Given the description of an element on the screen output the (x, y) to click on. 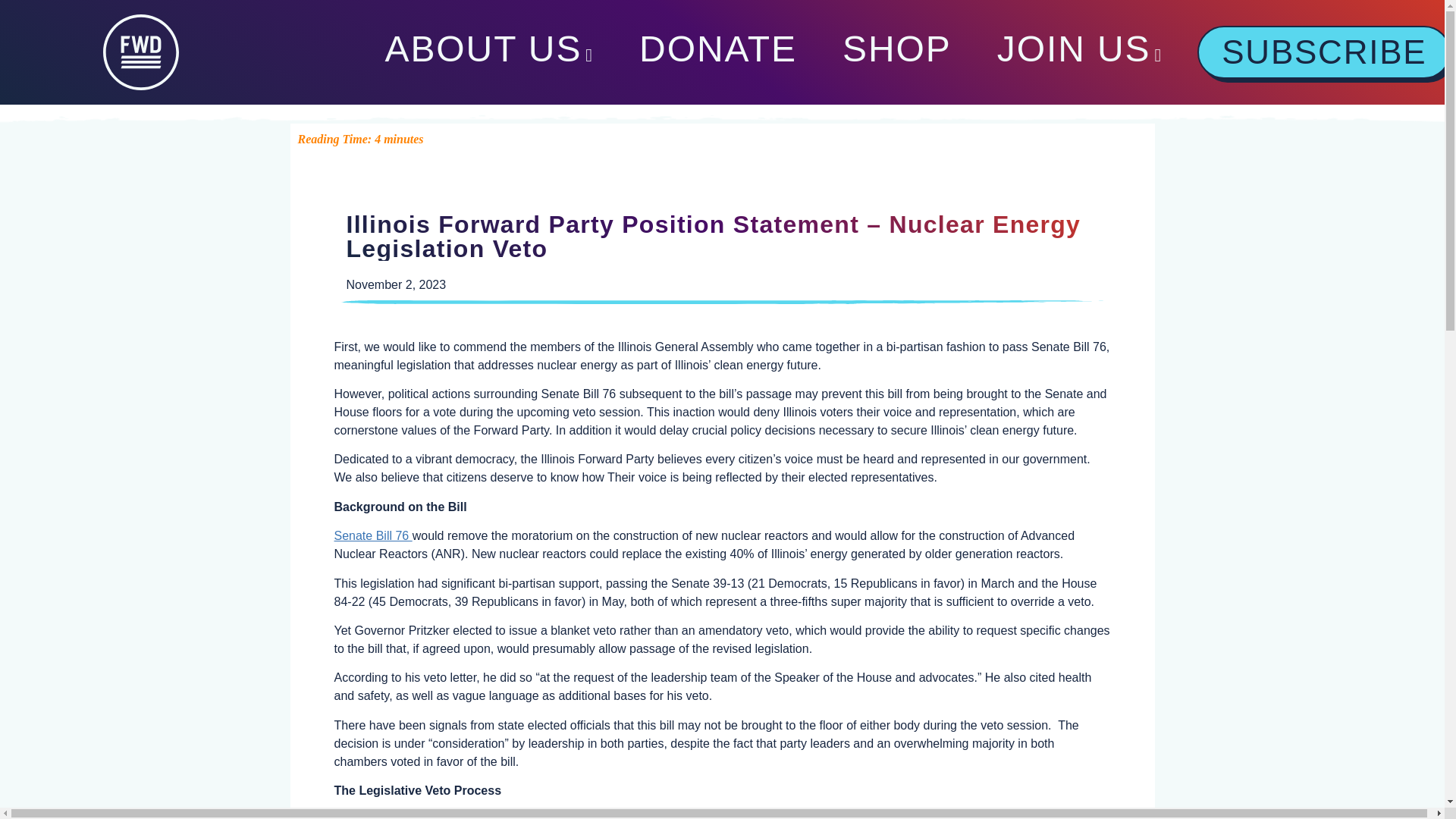
JOIN US (1079, 52)
SHOP (896, 48)
DONATE (717, 48)
ABOUT US (488, 52)
